Given the description of an element on the screen output the (x, y) to click on. 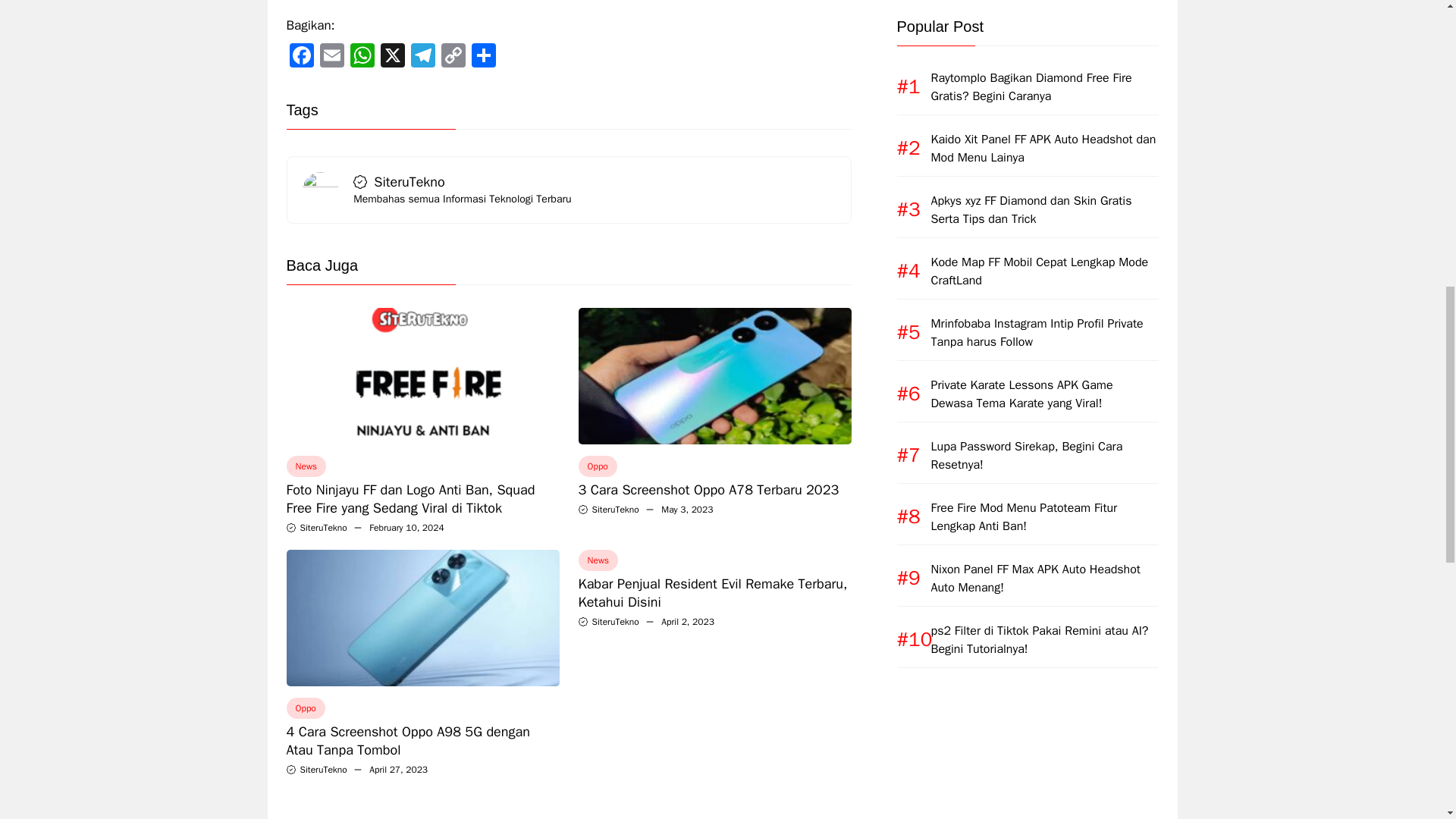
Email (332, 56)
SiteruTekno (323, 769)
SiteruTekno (615, 509)
X (392, 56)
Kabar Penjual Resident Evil Remake Terbaru, Ketahui Disini (712, 592)
4 Cara Screenshot Oppo A98 5G dengan Atau Tanpa Tombol (407, 740)
Email (332, 56)
Copy Link (453, 56)
Telegram (422, 56)
Oppo (305, 708)
WhatsApp (362, 56)
SiteruTekno (615, 621)
X (392, 56)
SiteruTekno (323, 527)
